Given the description of an element on the screen output the (x, y) to click on. 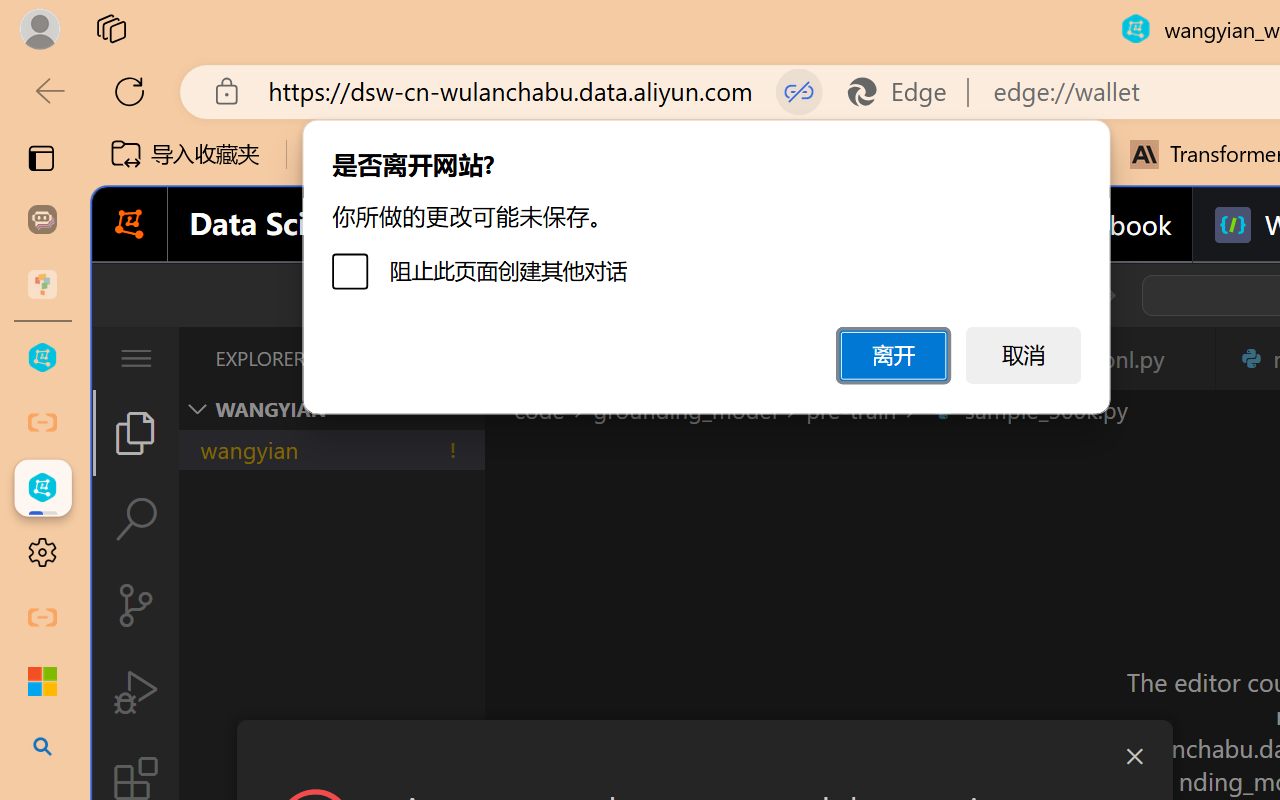
Source Control (Ctrl+Shift+G) (135, 604)
Run and Debug (Ctrl+Shift+D) (135, 692)
Explorer (Ctrl+Shift+E) (135, 432)
Application Menu (135, 358)
